Given the description of an element on the screen output the (x, y) to click on. 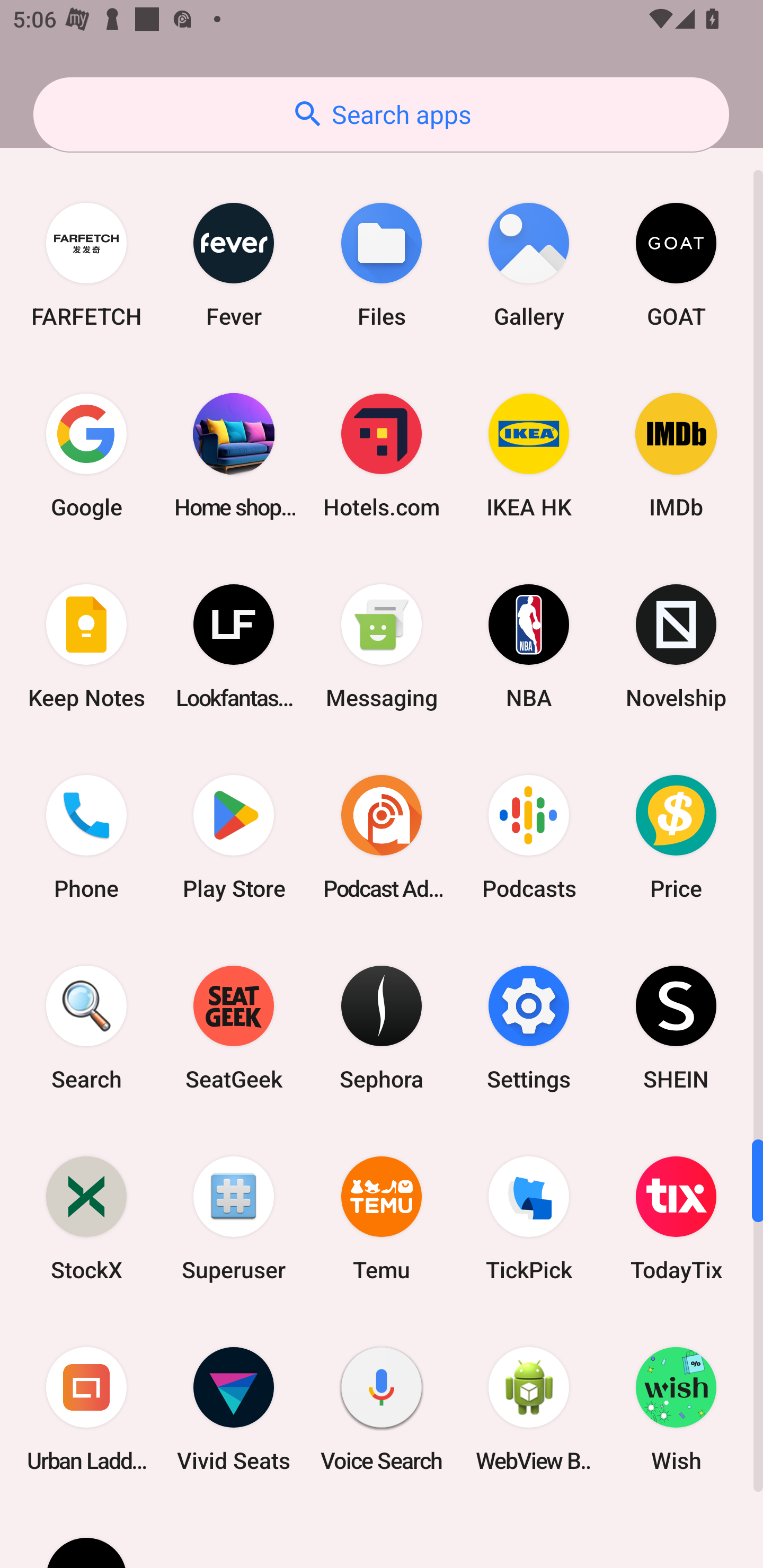
  Search apps (381, 114)
FARFETCH (86, 264)
Fever (233, 264)
Files (381, 264)
Gallery (528, 264)
GOAT (676, 264)
Google (86, 455)
Home shopping (233, 455)
Hotels.com (381, 455)
IKEA HK (528, 455)
IMDb (676, 455)
Keep Notes (86, 645)
Lookfantastic (233, 645)
Messaging (381, 645)
NBA (528, 645)
Novelship (676, 645)
Phone (86, 836)
Play Store (233, 836)
Podcast Addict (381, 836)
Podcasts (528, 836)
Price (676, 836)
Search (86, 1027)
SeatGeek (233, 1027)
Sephora (381, 1027)
Settings (528, 1027)
SHEIN (676, 1027)
StockX (86, 1217)
Superuser (233, 1217)
Temu (381, 1217)
TickPick (528, 1217)
TodayTix (676, 1217)
Urban Ladder (86, 1408)
Vivid Seats (233, 1408)
Voice Search (381, 1408)
WebView Browser Tester (528, 1408)
Wish (676, 1408)
